Given the description of an element on the screen output the (x, y) to click on. 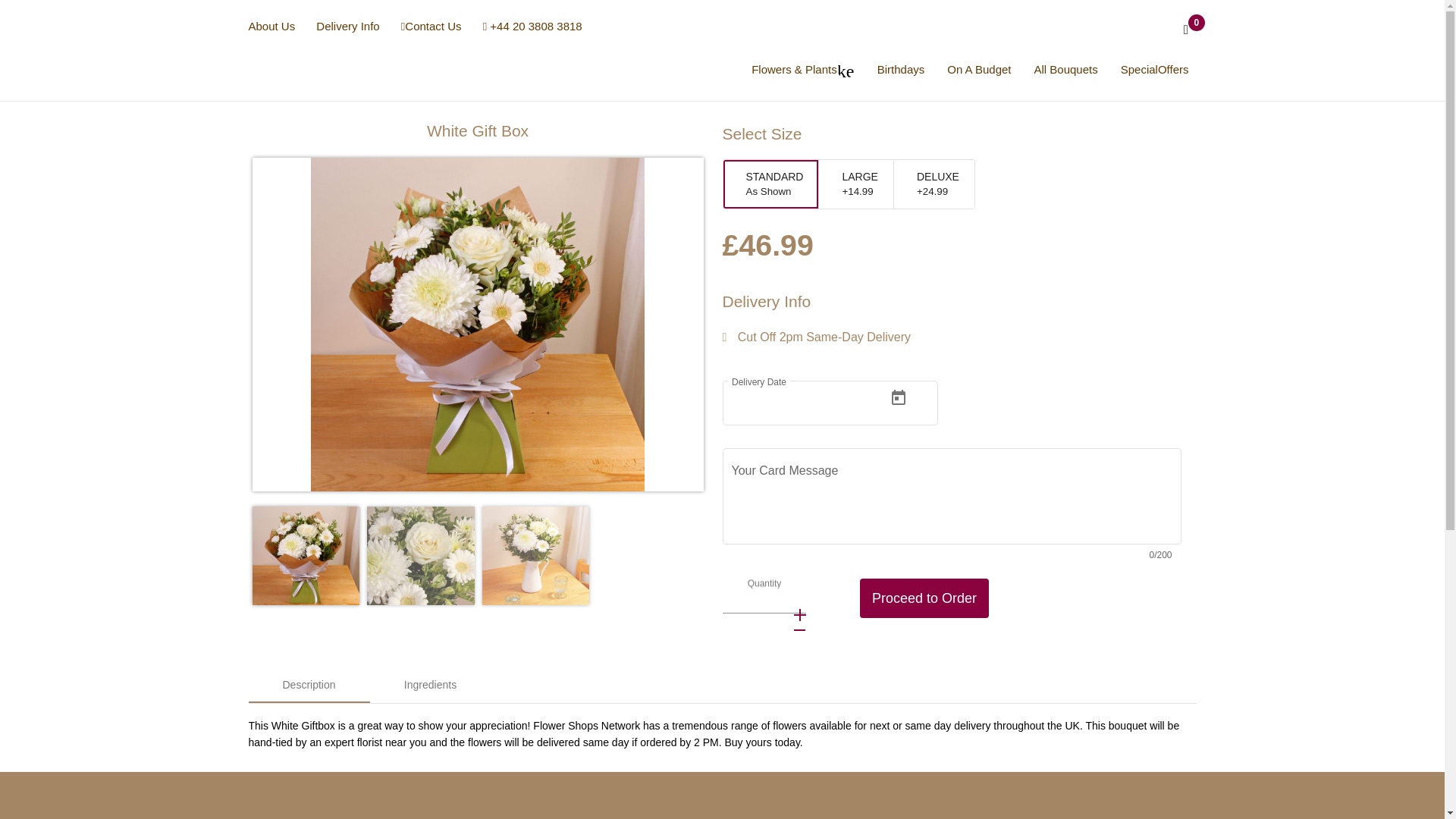
SpecialOffers (1155, 69)
On A Budget (978, 69)
Kingston Upon Hull Florist (252, 69)
Delivery Info (346, 25)
Birthdays (900, 69)
About Us (271, 25)
Contact Us (431, 25)
Proceed to Order (924, 598)
All Bouquets (1065, 69)
